Given the description of an element on the screen output the (x, y) to click on. 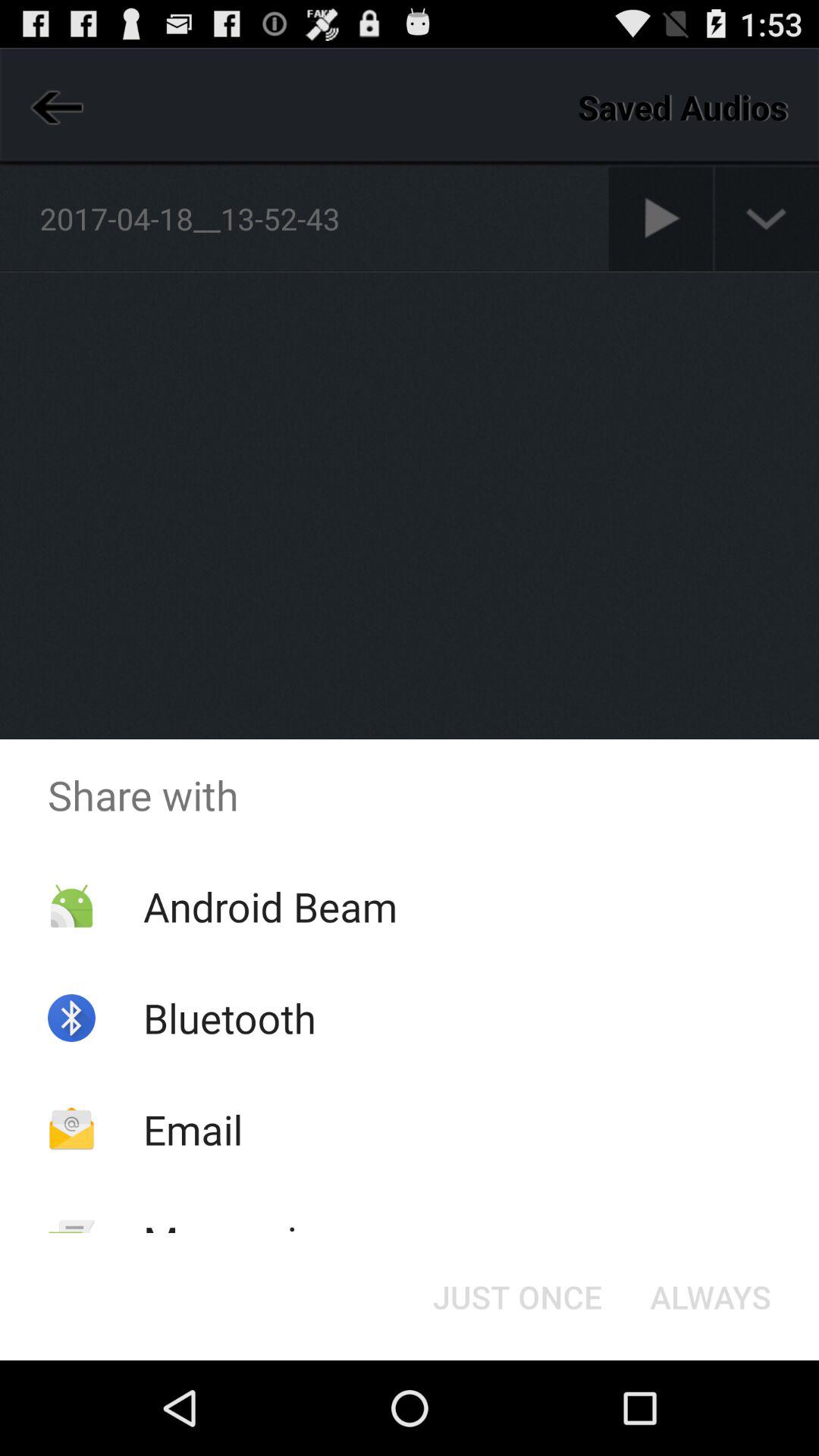
turn off email app (192, 1128)
